Given the description of an element on the screen output the (x, y) to click on. 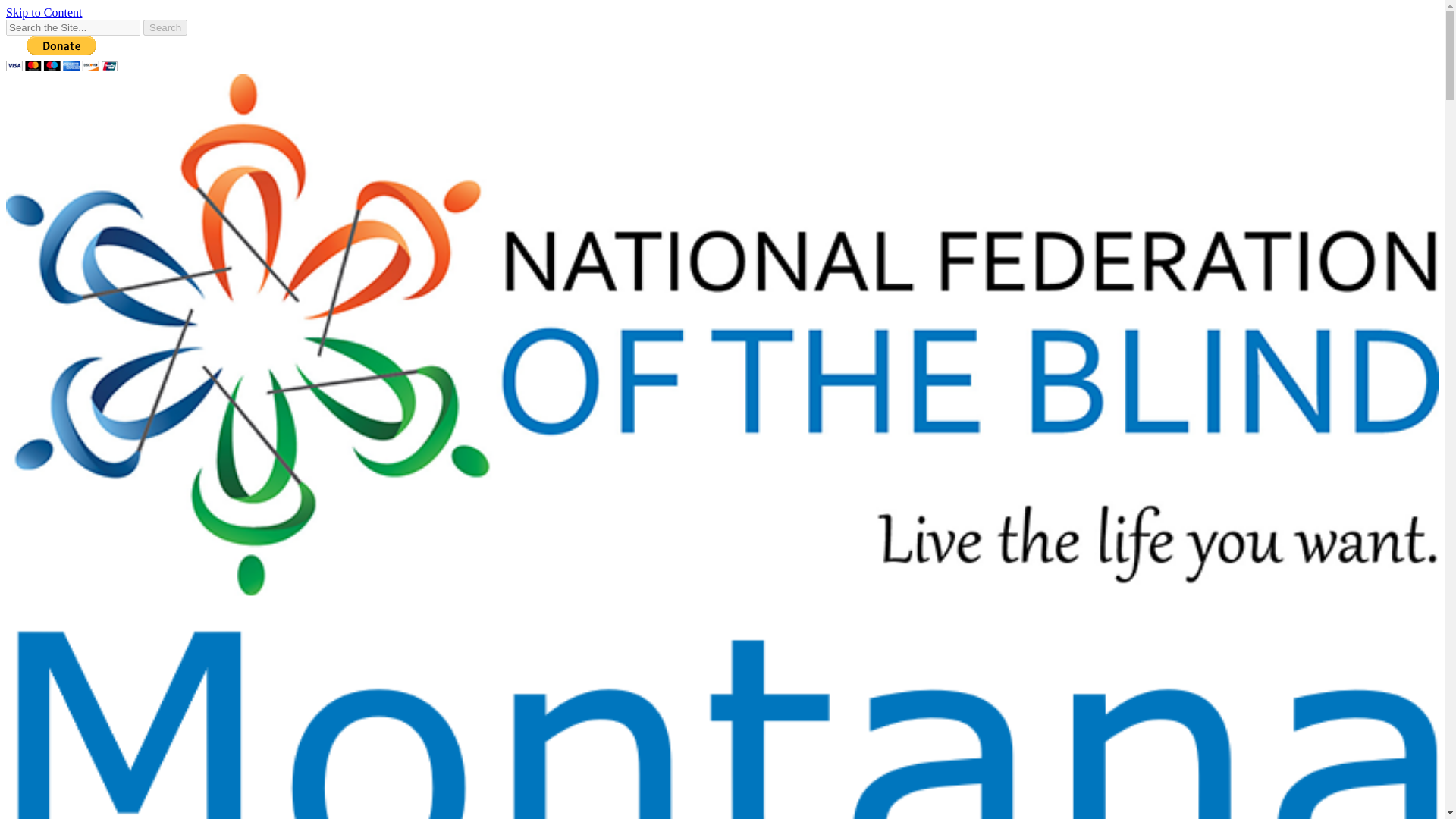
Skip to Content (43, 11)
Search (164, 27)
PayPal - The safer, easier way to pay online! (61, 53)
